Given the description of an element on the screen output the (x, y) to click on. 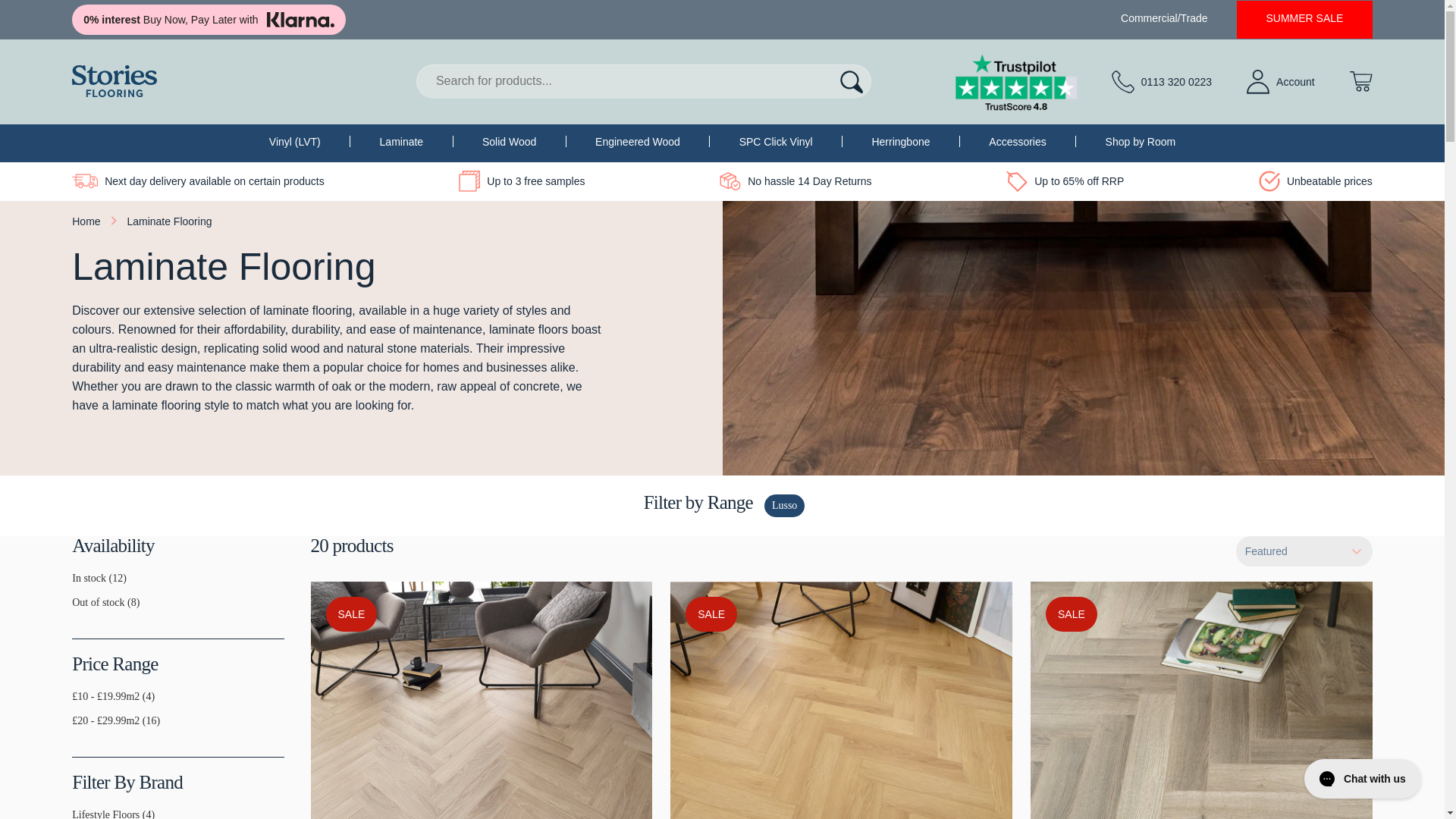
Laminate (401, 141)
Read our reviews on TrustPilot (1016, 81)
View basket (1361, 81)
Stories Flooring - Leading Retailers of Laminate Flooring  (114, 81)
Klarna finance options (207, 19)
Call us (1161, 81)
Stories Flooring (114, 81)
SUMMER SALE (1303, 18)
Lifestyle Floors (77, 816)
Klarna Logo (300, 19)
Account (1280, 81)
1 (77, 584)
SUMMER SALE (1303, 18)
0 (77, 608)
Solid Wood (508, 141)
